Given the description of an element on the screen output the (x, y) to click on. 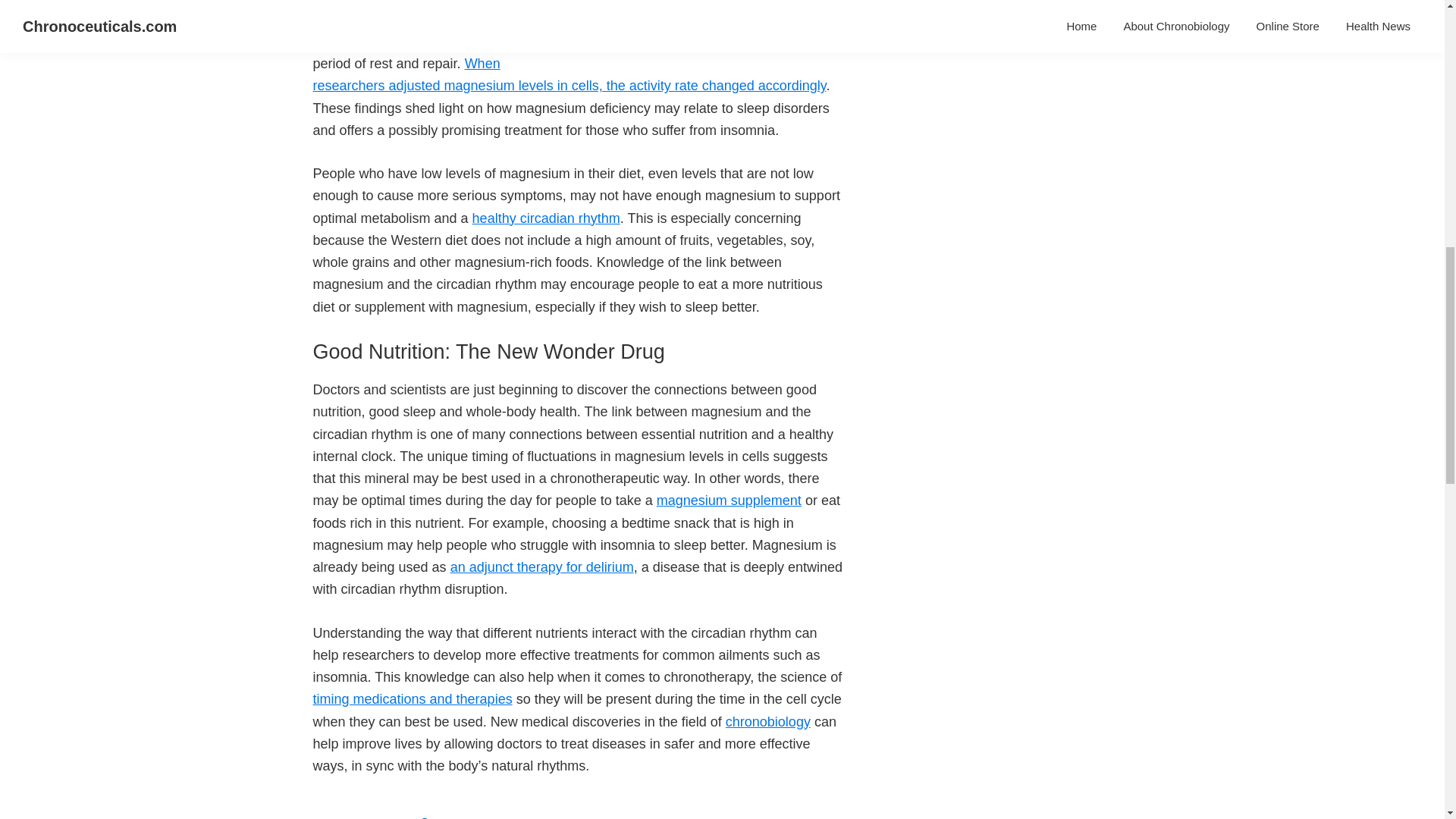
timing medications and therapies (412, 698)
an adjunct therapy for delirium (541, 566)
magnesium supplement (729, 500)
chronobiology (767, 721)
healthy circadian rhythm (545, 218)
